Given the description of an element on the screen output the (x, y) to click on. 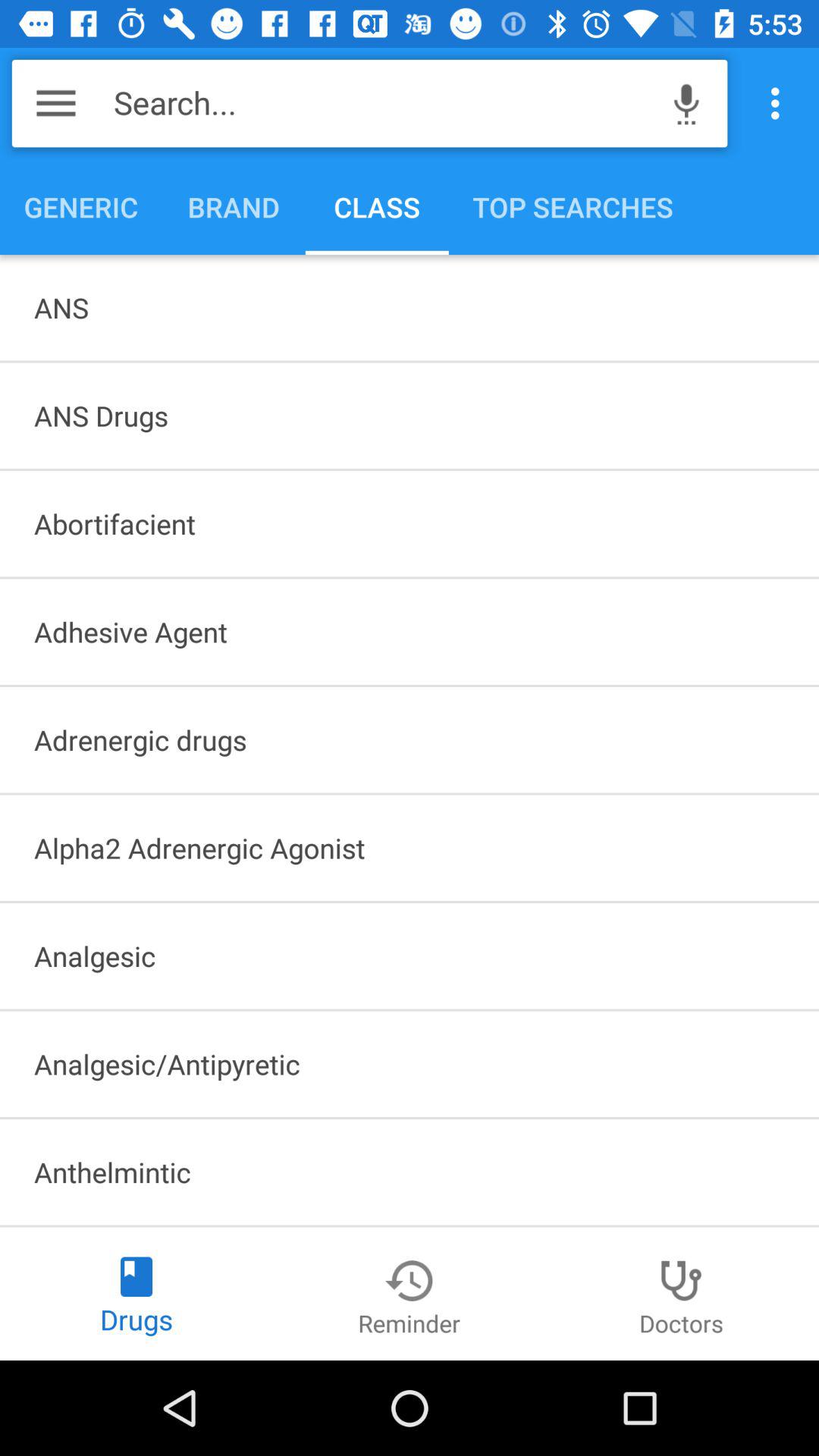
flip until the alpha2 adrenergic agonist item (409, 847)
